Given the description of an element on the screen output the (x, y) to click on. 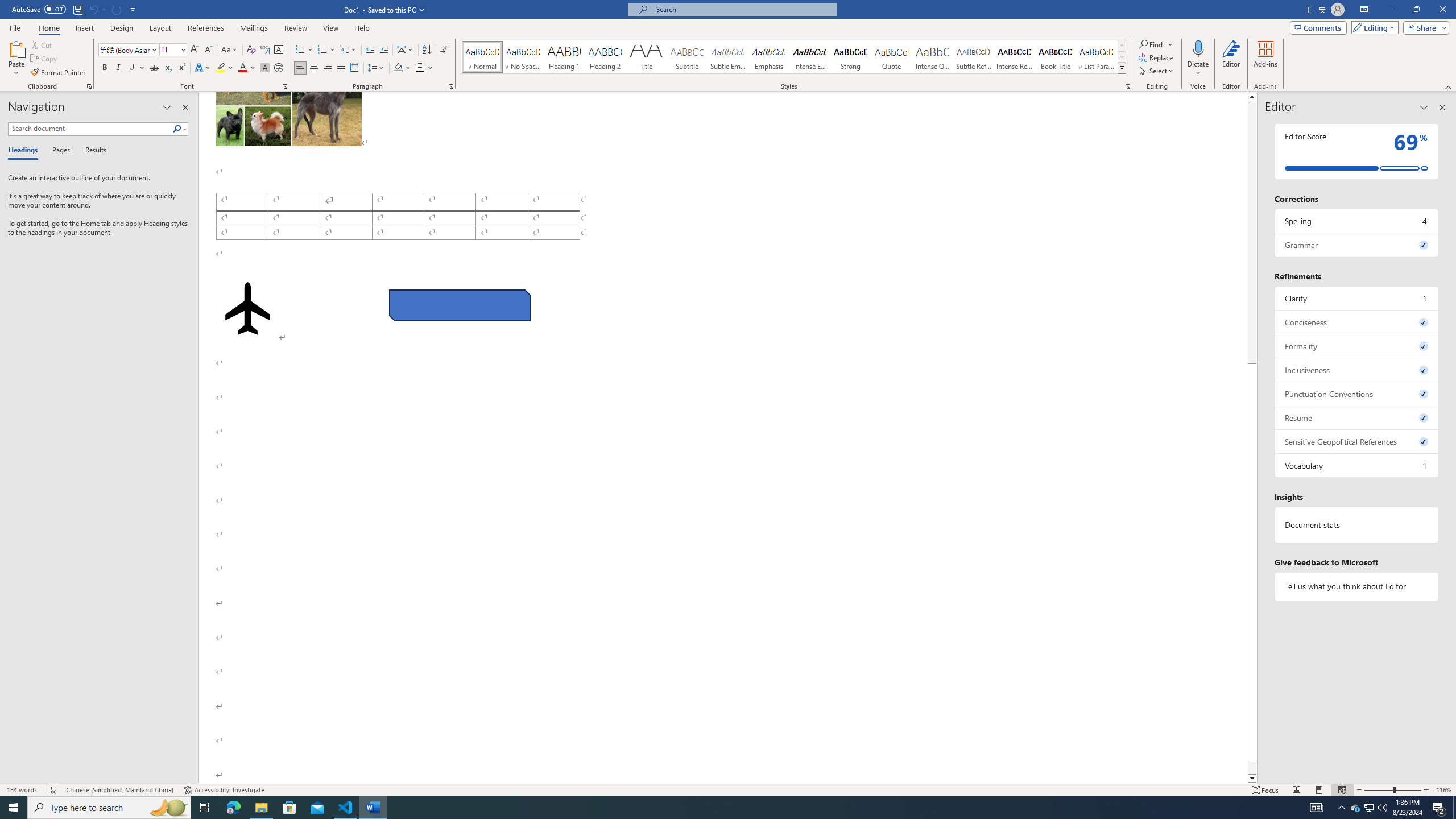
Can't Repeat (117, 9)
